Given the description of an element on the screen output the (x, y) to click on. 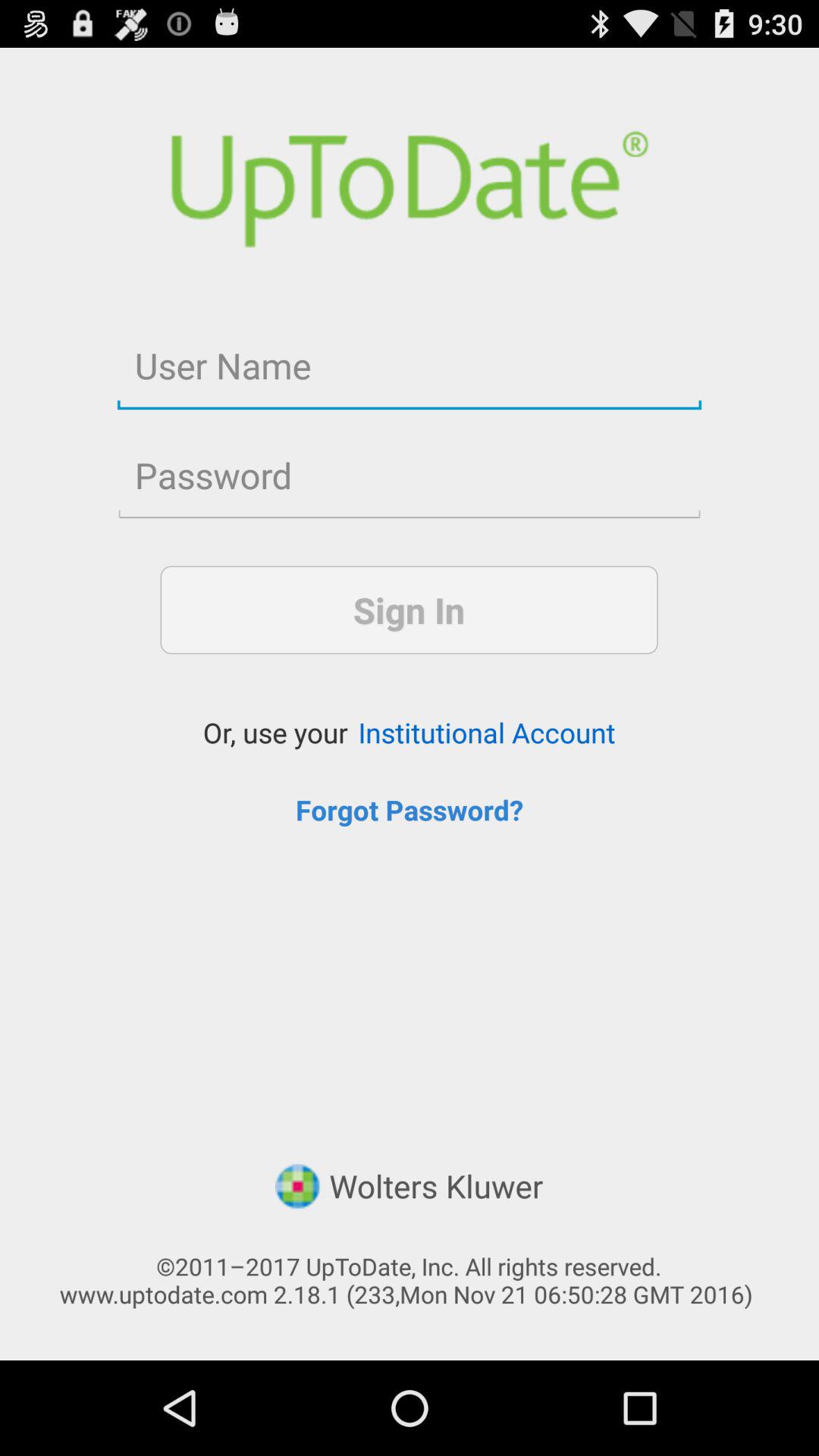
scroll until wolters kluwer icon (409, 1187)
